Given the description of an element on the screen output the (x, y) to click on. 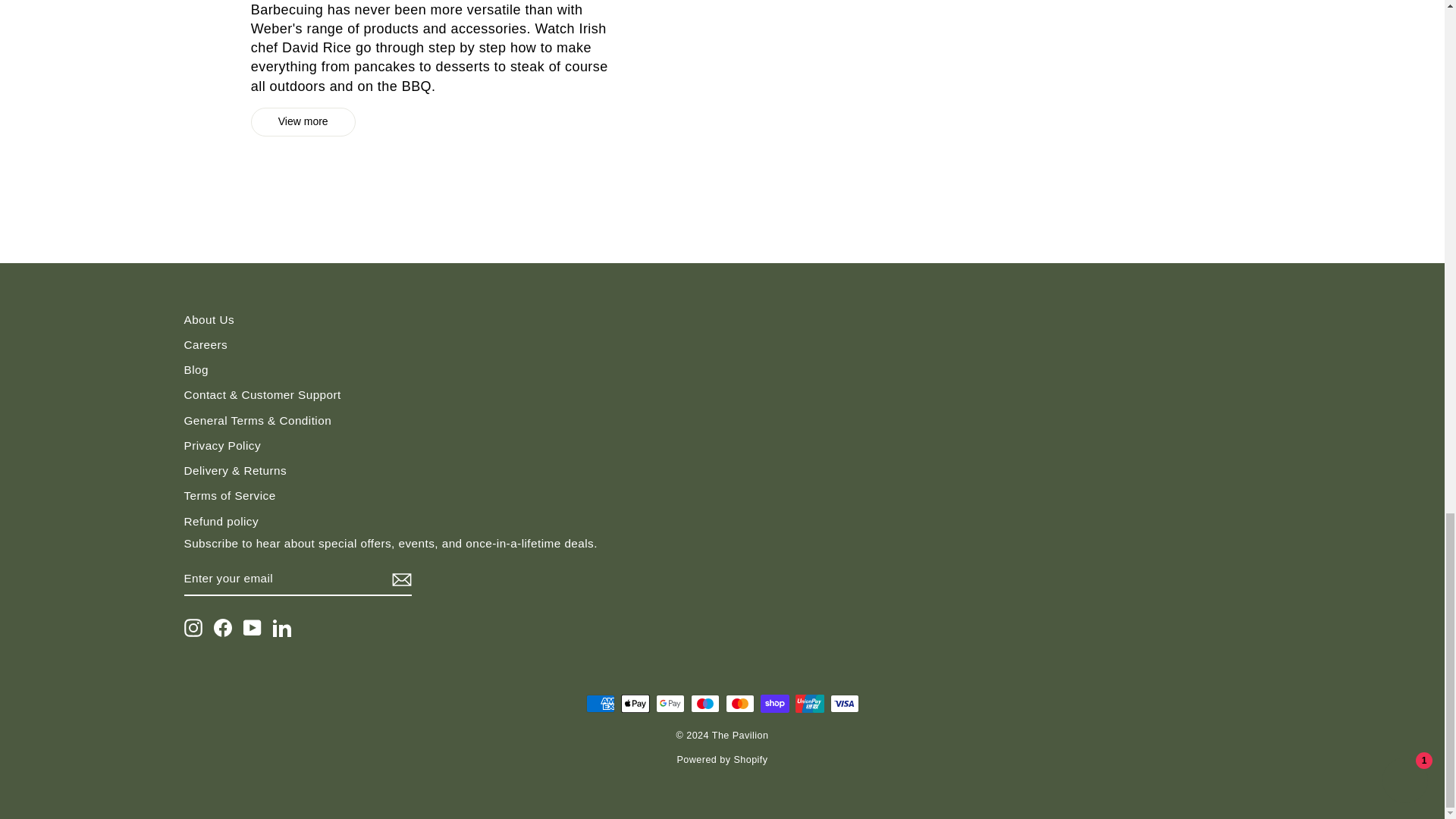
Shop Pay (774, 703)
Google Pay (669, 703)
Union Pay (809, 703)
The Pavilion on LinkedIn (282, 628)
Maestro (704, 703)
Visa (844, 703)
The Pavilion on YouTube (251, 628)
Apple Pay (634, 703)
Mastercard (739, 703)
The Pavilion on Instagram (192, 628)
The Pavilion on Facebook (222, 628)
American Express (599, 703)
